Given the description of an element on the screen output the (x, y) to click on. 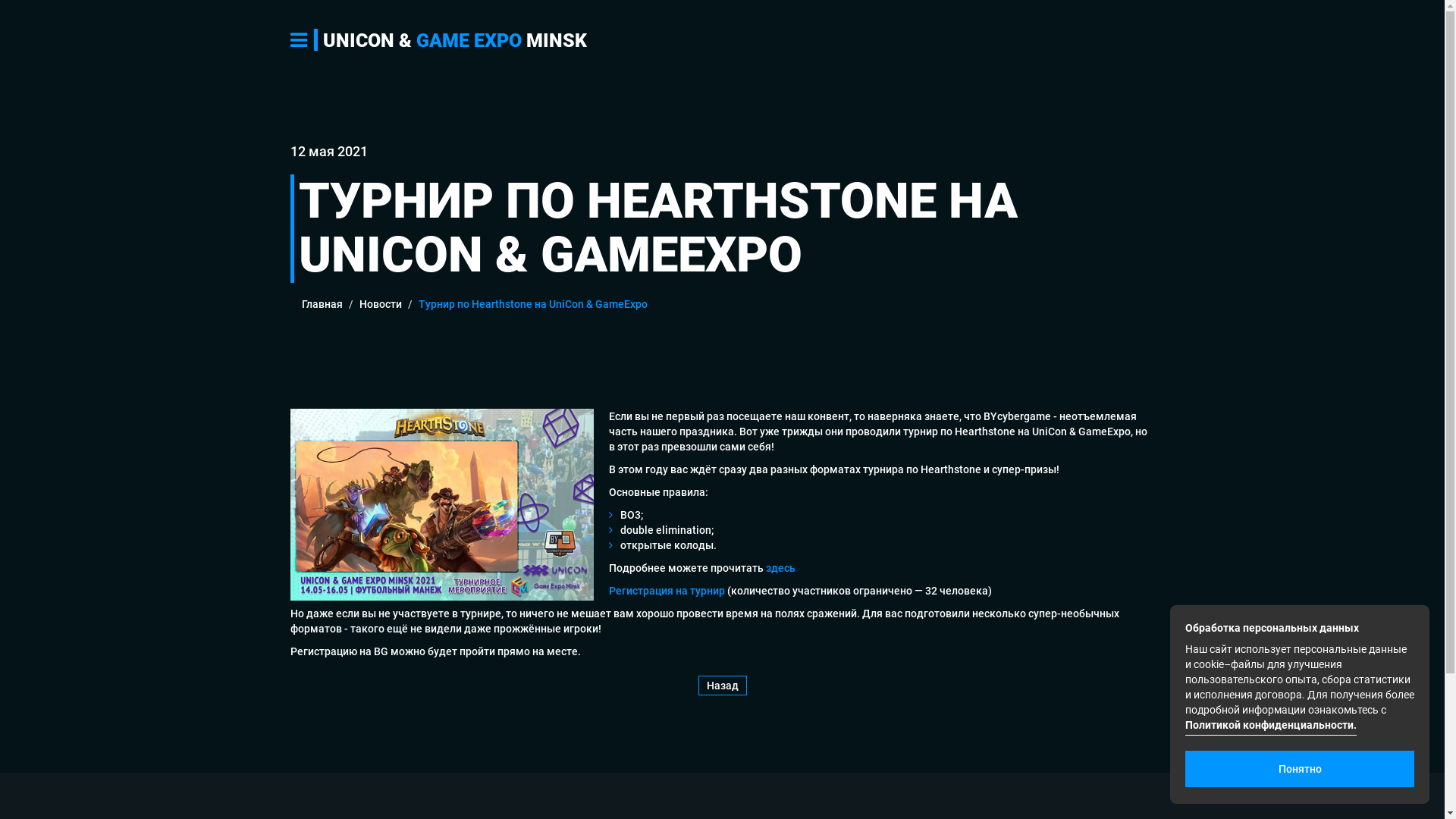
UNICON & GAME EXPO MINSK Element type: text (449, 40)
